Given the description of an element on the screen output the (x, y) to click on. 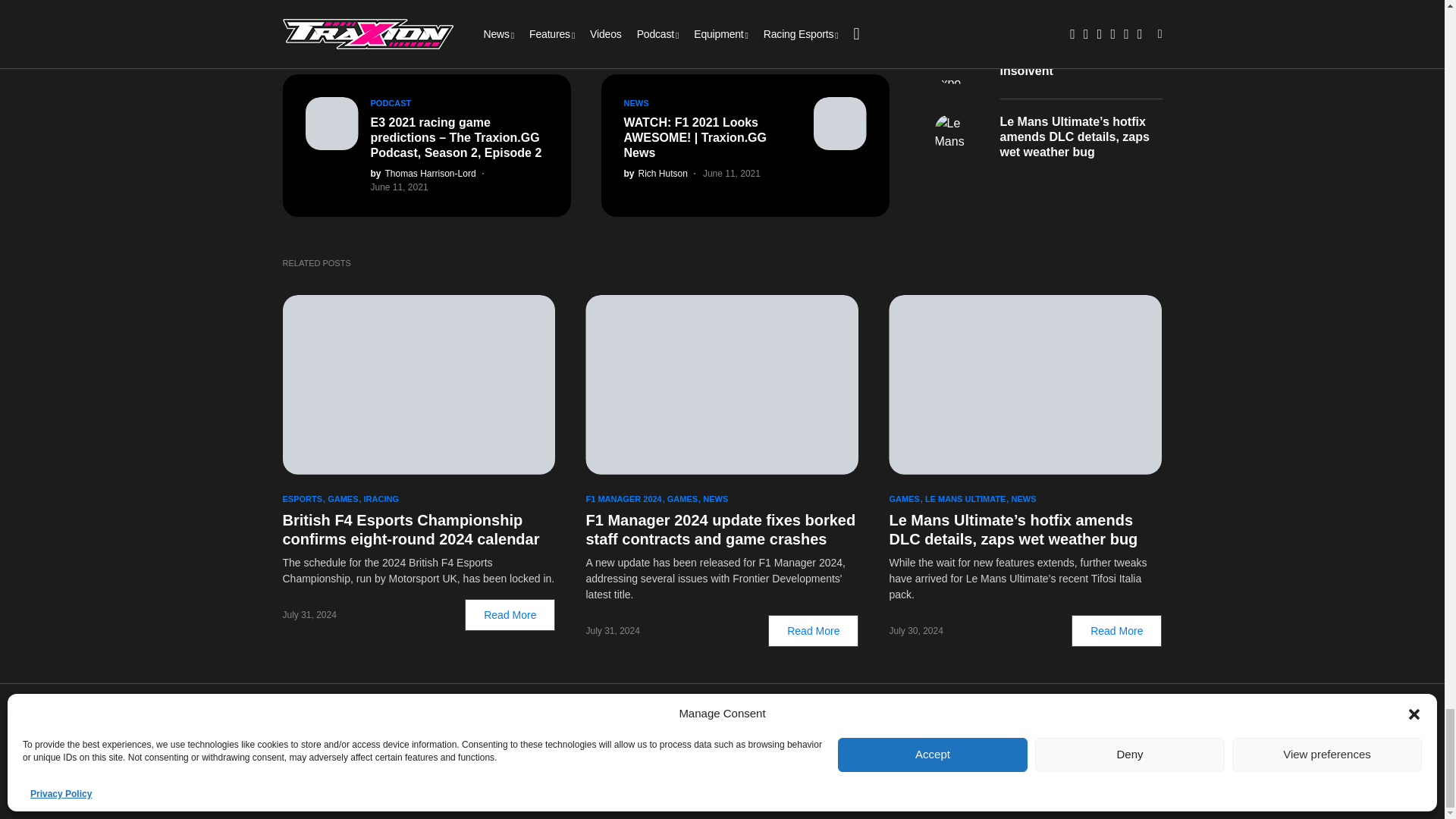
View all posts by Rich Hutson (655, 173)
View all posts by Thomas Harrison-Lord (422, 173)
